Given the description of an element on the screen output the (x, y) to click on. 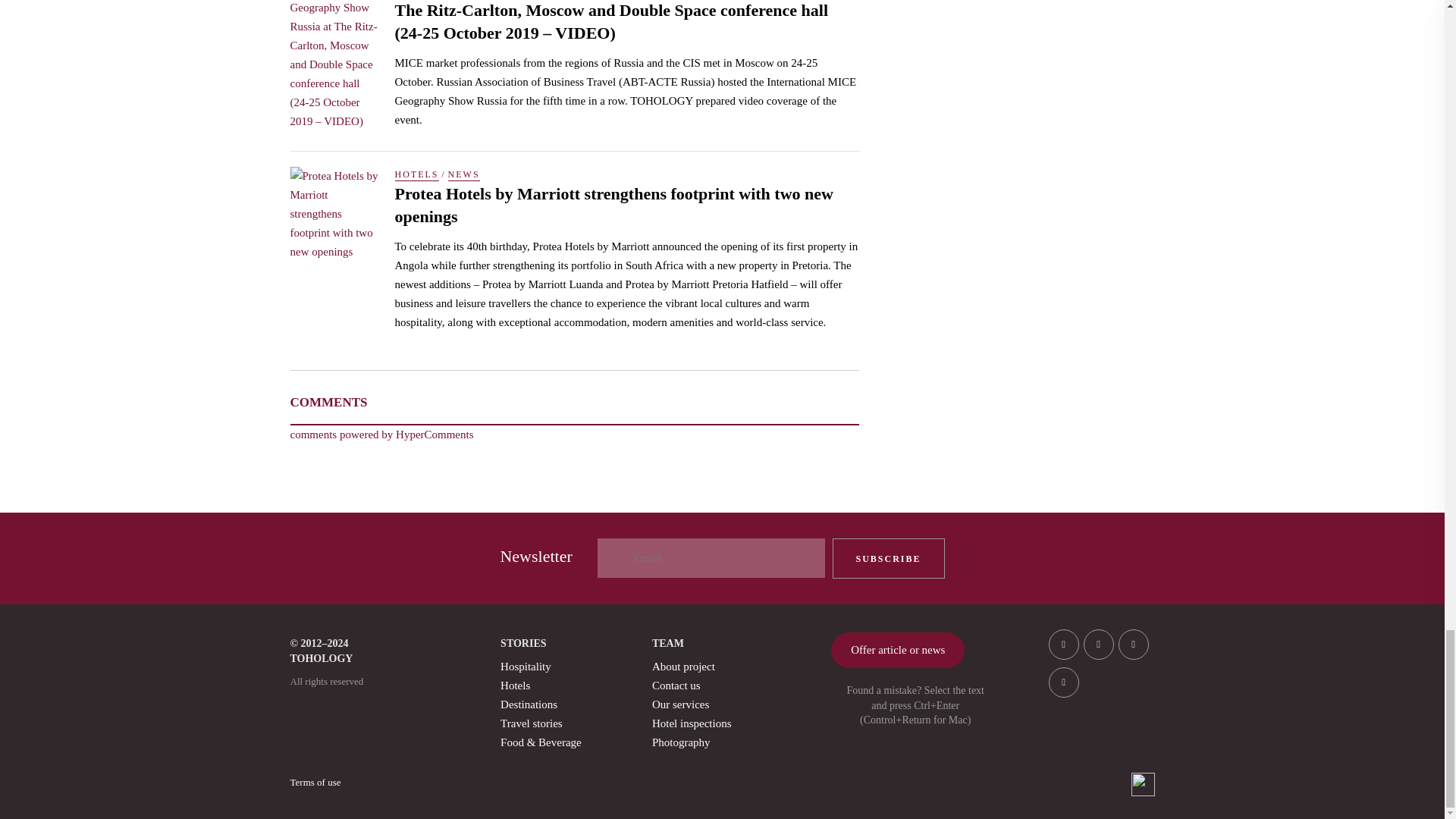
LiveInternet (1142, 784)
comments widget (381, 434)
Offer article or news (897, 650)
